Given the description of an element on the screen output the (x, y) to click on. 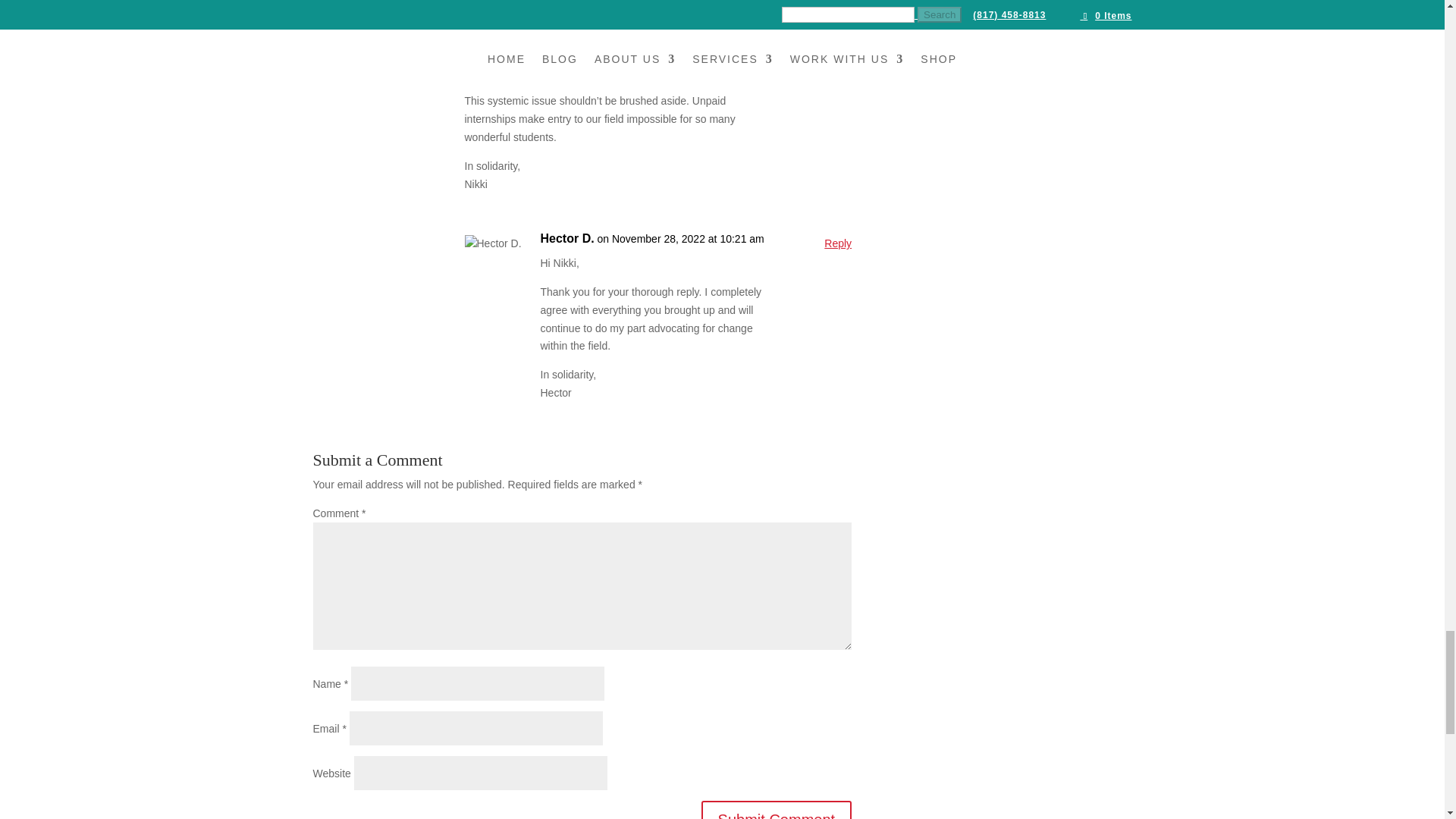
Submit Comment (776, 809)
